Given the description of an element on the screen output the (x, y) to click on. 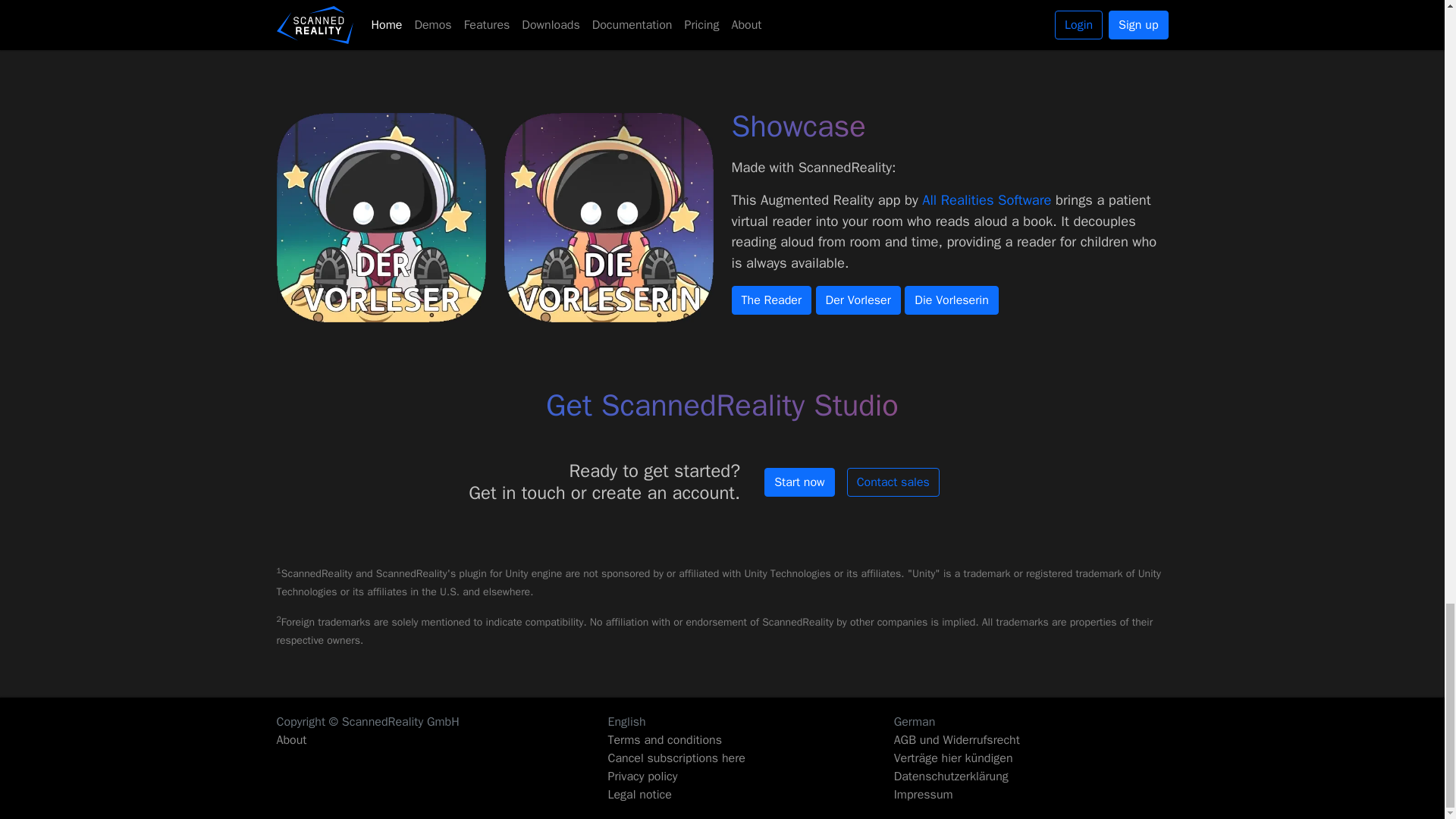
Privacy policy (750, 776)
Terms and conditions (750, 740)
Cancel subscriptions here (750, 758)
All Realities Software (986, 199)
AGB und Widerrufsrecht (1031, 740)
Start now (799, 481)
Der Vorleser (858, 299)
Legal notice (750, 794)
The Reader (770, 299)
Contact sales (893, 481)
Impressum (1031, 794)
About (290, 739)
Die Vorleserin (950, 299)
